Given the description of an element on the screen output the (x, y) to click on. 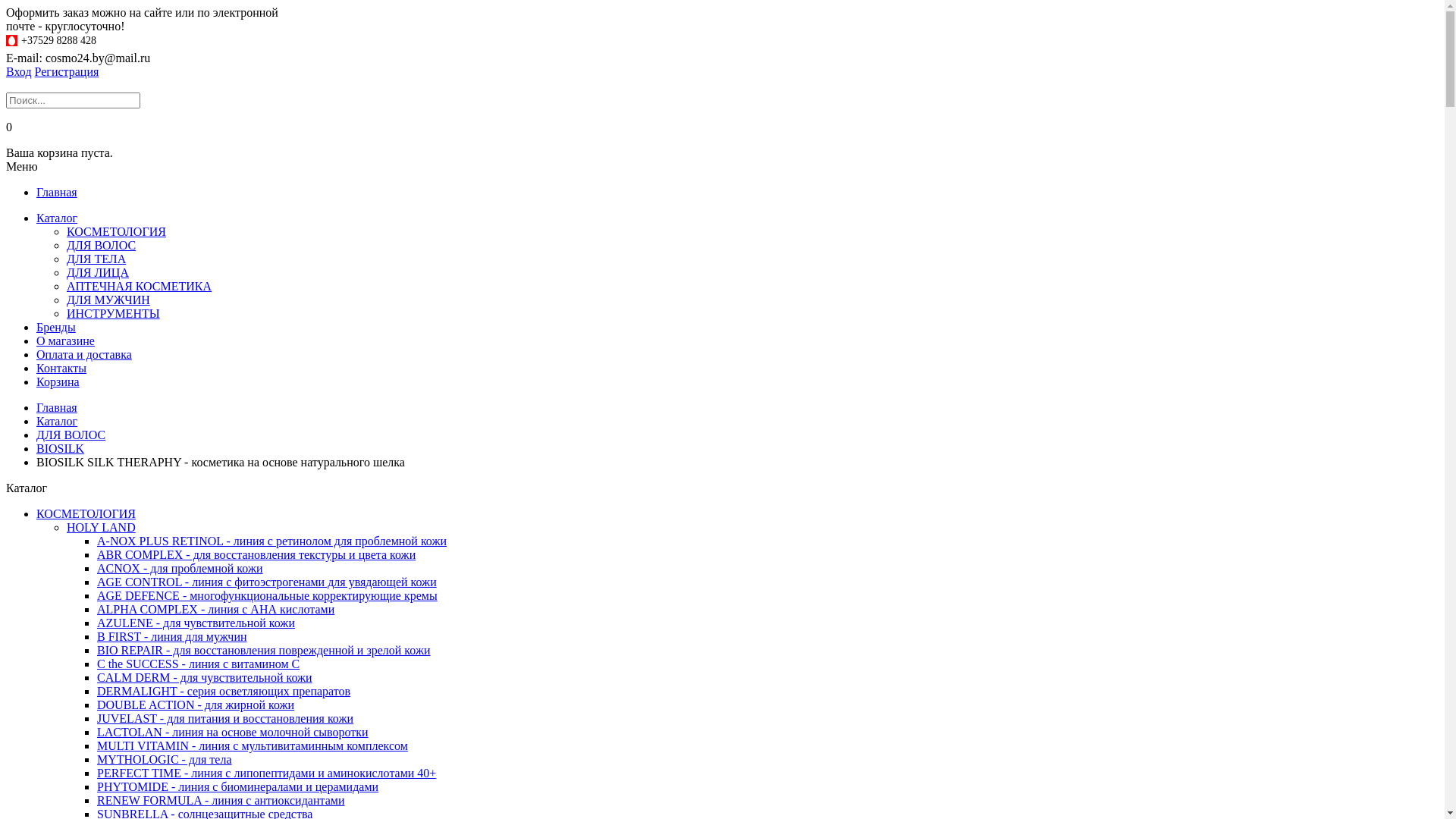
HOLY LAND Element type: text (100, 526)
BIOSILK Element type: text (60, 448)
